Given the description of an element on the screen output the (x, y) to click on. 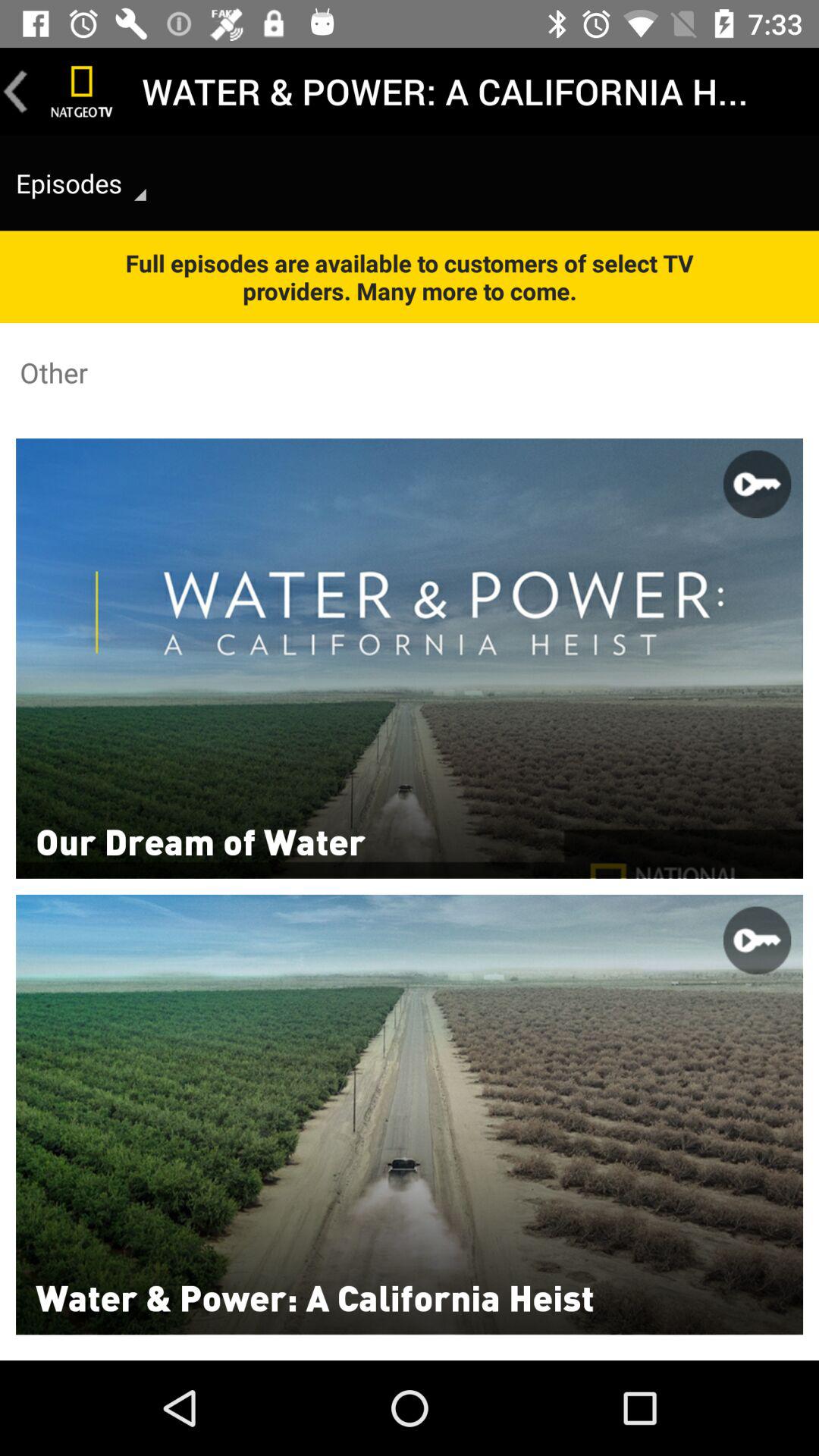
press item below the other (200, 840)
